Given the description of an element on the screen output the (x, y) to click on. 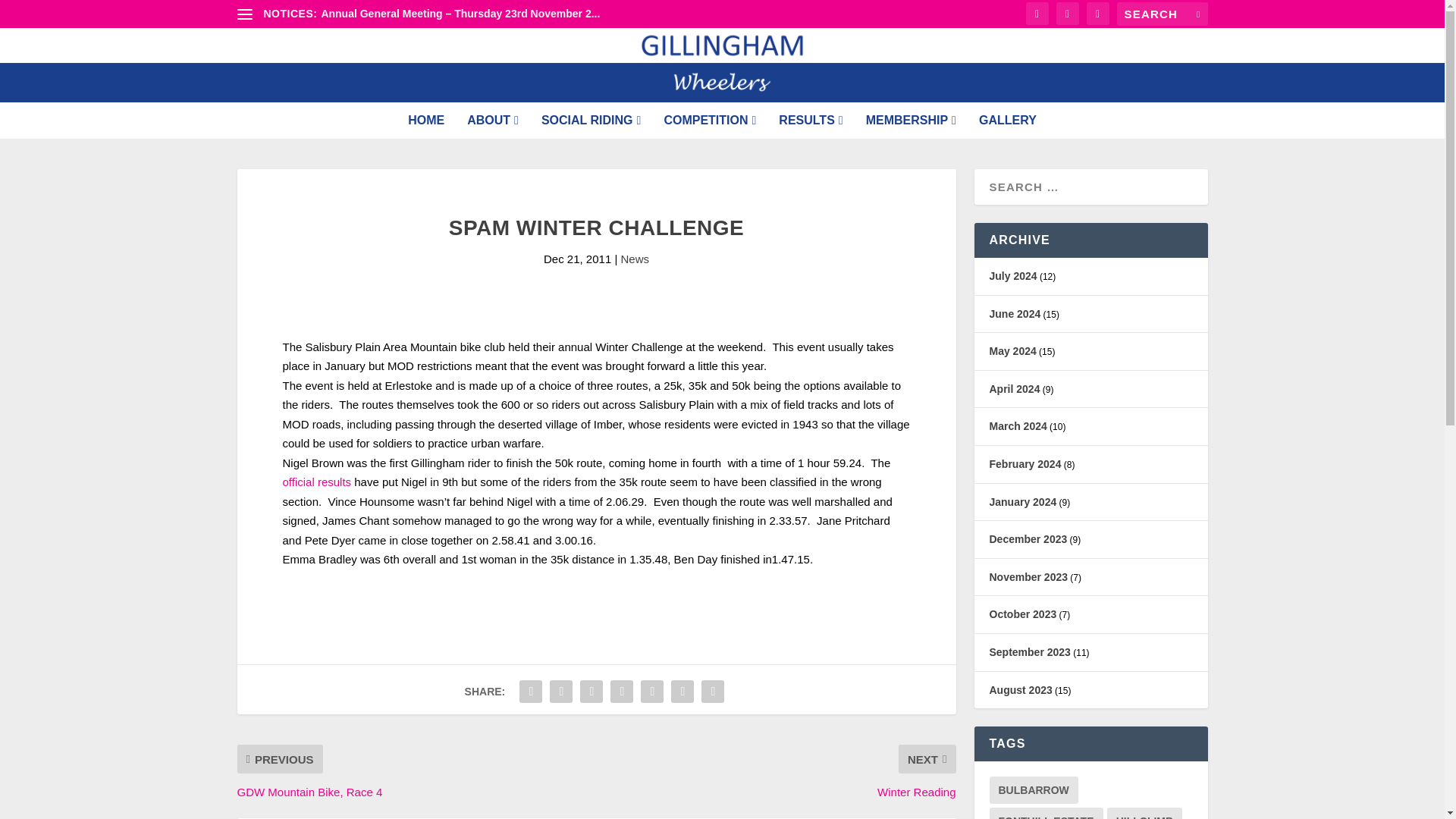
Share "SPAM Winter Challenge" via Pinterest (622, 691)
COMPETITION (709, 120)
Share "SPAM Winter Challenge" via Twitter (561, 691)
SOCIAL RIDING (590, 120)
Search for: (1161, 13)
Share "SPAM Winter Challenge" via Print (712, 691)
Share "SPAM Winter Challenge" via LinkedIn (651, 691)
ABOUT (492, 120)
HOME (425, 120)
MEMBERSHIP (911, 120)
Share "SPAM Winter Challenge" via Facebook (530, 691)
Share "SPAM Winter Challenge" via Email (681, 691)
RESULTS (810, 120)
